Given the description of an element on the screen output the (x, y) to click on. 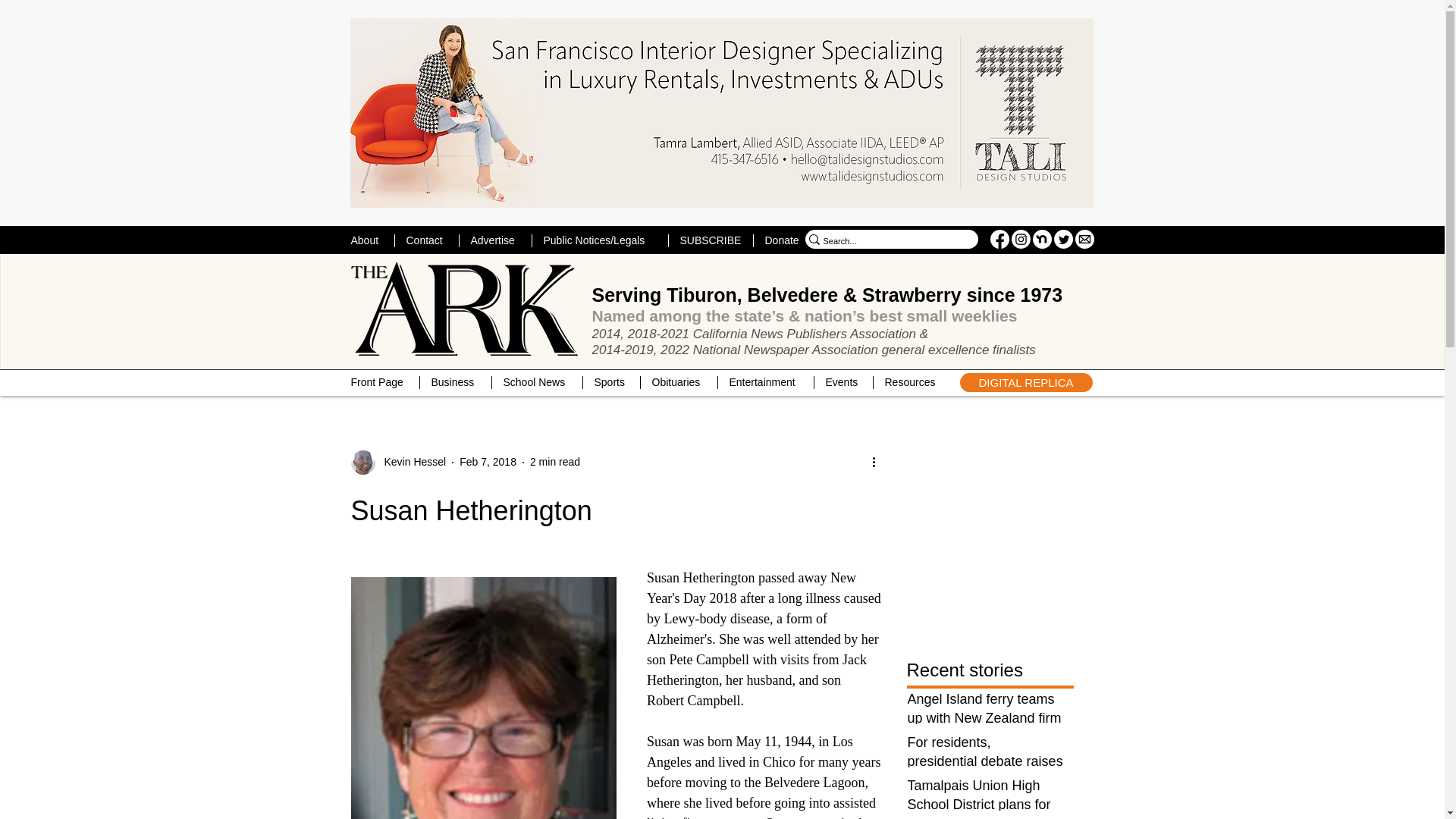
School News (537, 382)
Business (454, 382)
Kevin Hessel (409, 462)
Feb 7, 2018 (488, 461)
Contact (426, 240)
Advertise (494, 240)
About (366, 240)
2 min read (554, 461)
Donate (782, 240)
Front Page (379, 382)
SUBSCRIBE (709, 240)
Sports (611, 382)
